Given the description of an element on the screen output the (x, y) to click on. 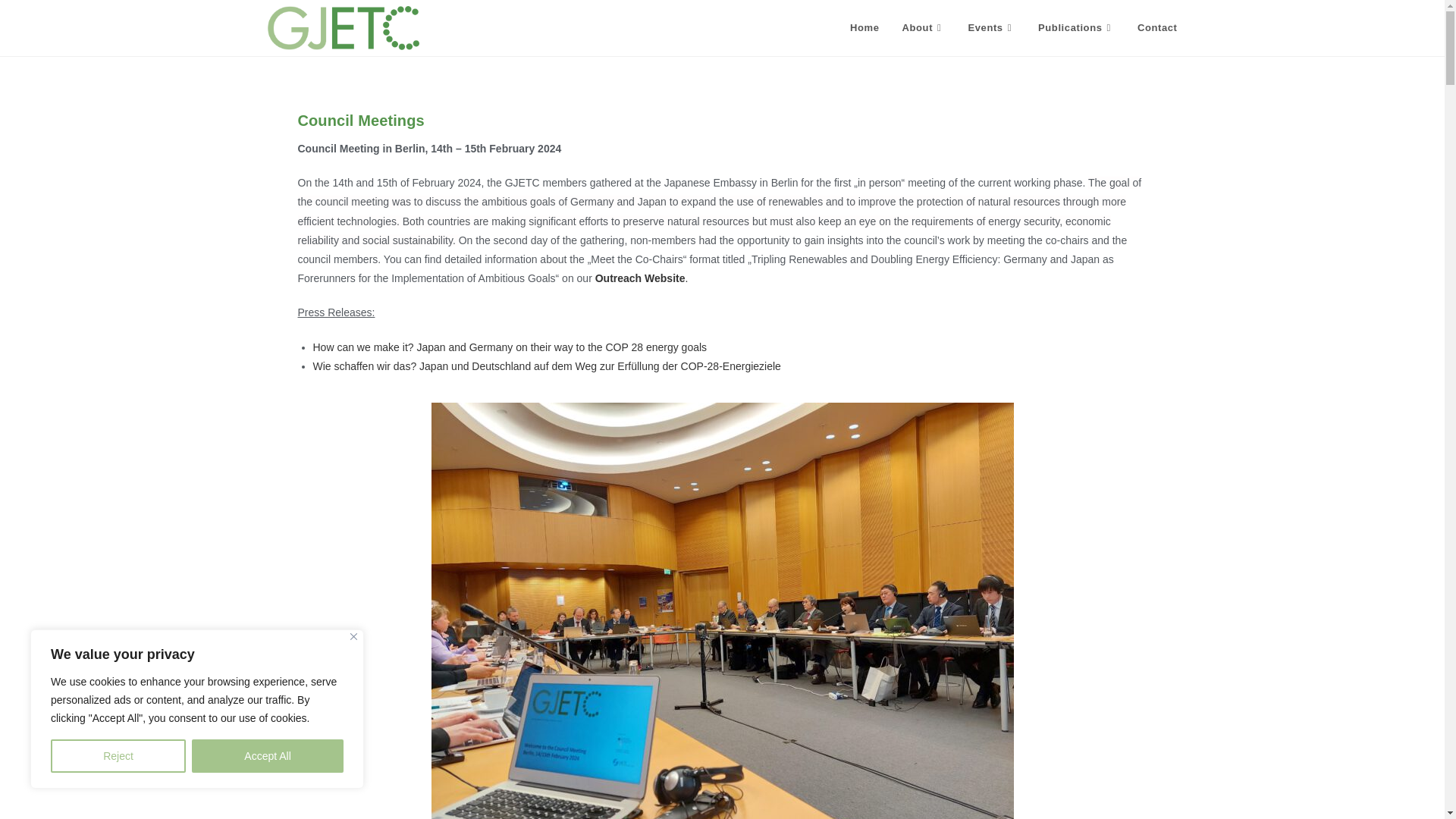
Contact (1157, 28)
Home (864, 28)
Accept All (267, 756)
Publications (1075, 28)
About (923, 28)
Outreach Website. (641, 277)
Reject (118, 756)
Events (991, 28)
